Given the description of an element on the screen output the (x, y) to click on. 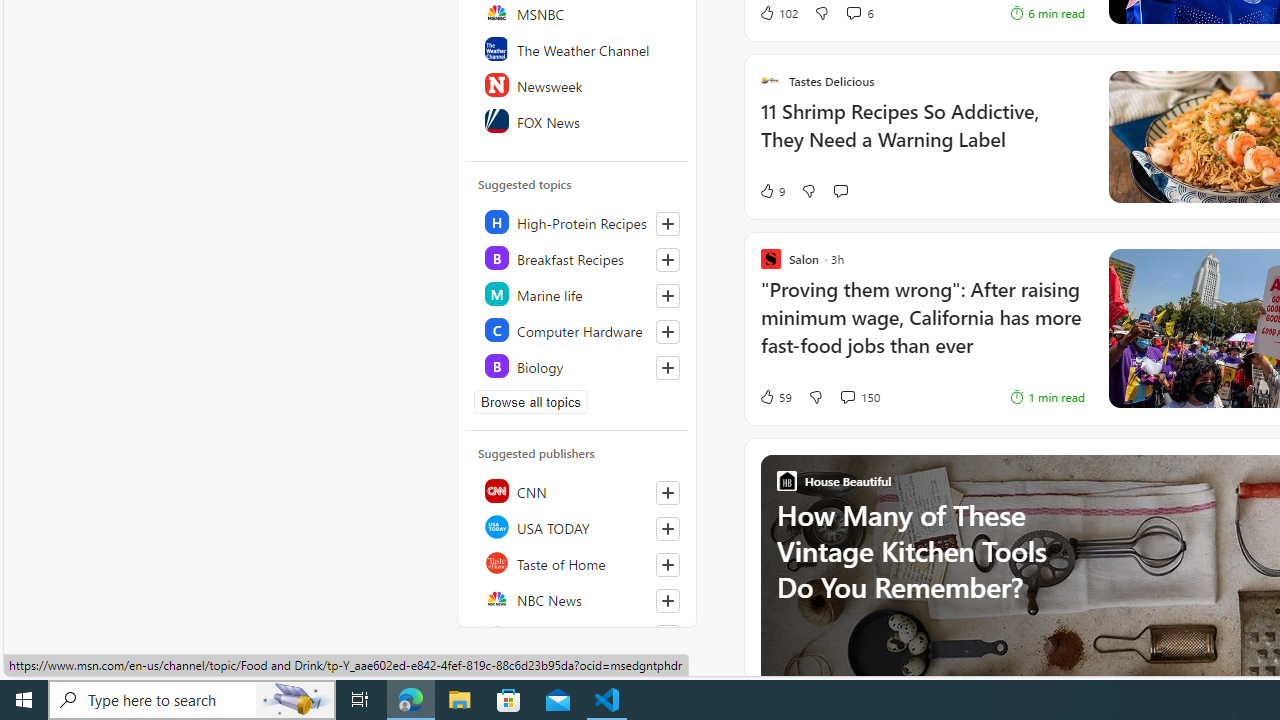
Class: highlight (578, 365)
Newsweek (578, 84)
NBC News (578, 598)
FOX News (578, 120)
View comments 6 Comment (859, 12)
View comments 150 Comment (847, 396)
The Weather Channel (578, 48)
